Given the description of an element on the screen output the (x, y) to click on. 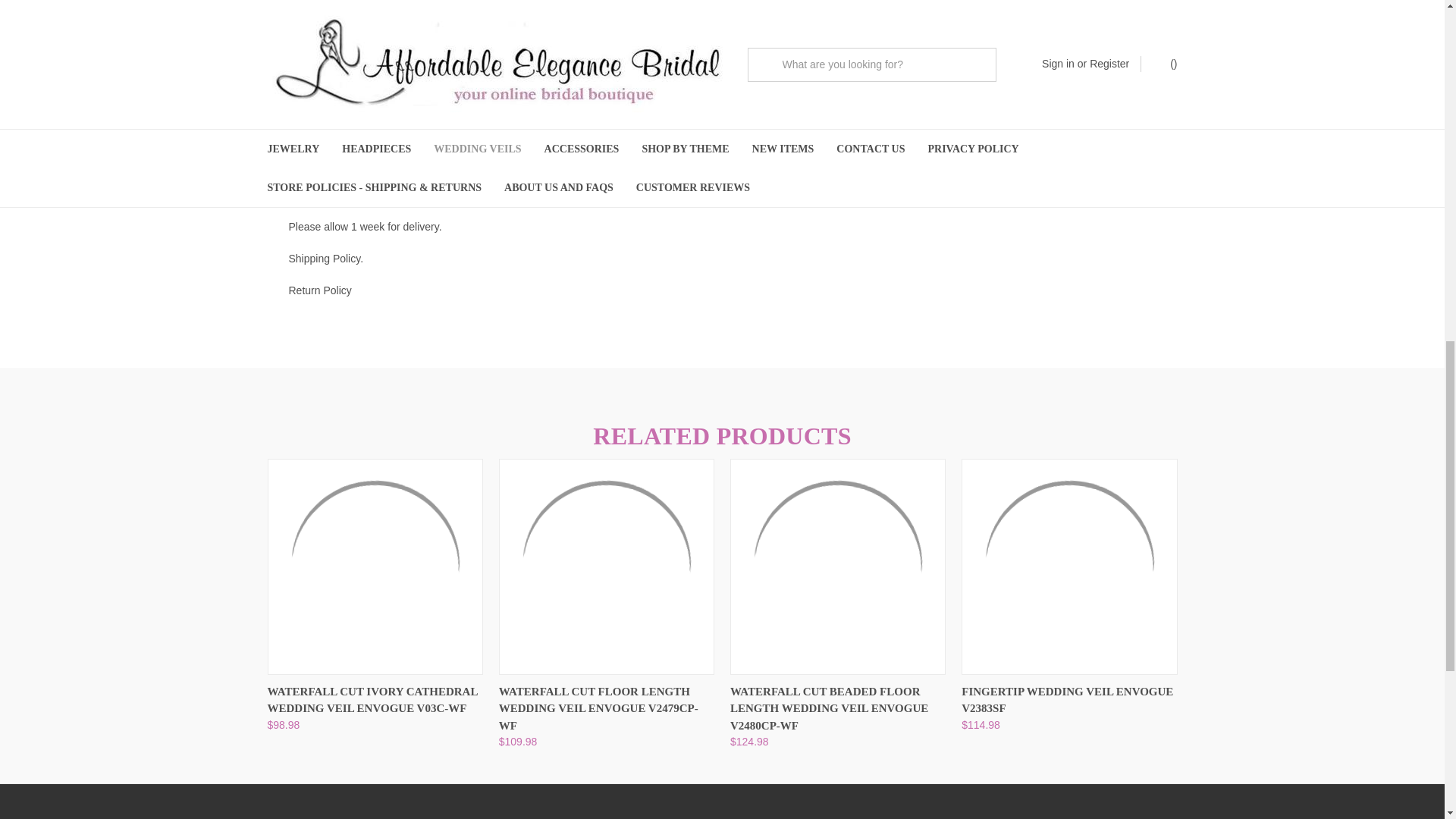
Fingertip Wedding Veil Envogue V2383SF (1068, 565)
Waterfall Cut Floor Length Wedding Veil Envogue V2479CP-WF (606, 565)
store policies (323, 258)
Waterfall Cut Ivory Cathedral Wedding Veil enVogue V03C-WF (374, 565)
store policies (319, 290)
